Given the description of an element on the screen output the (x, y) to click on. 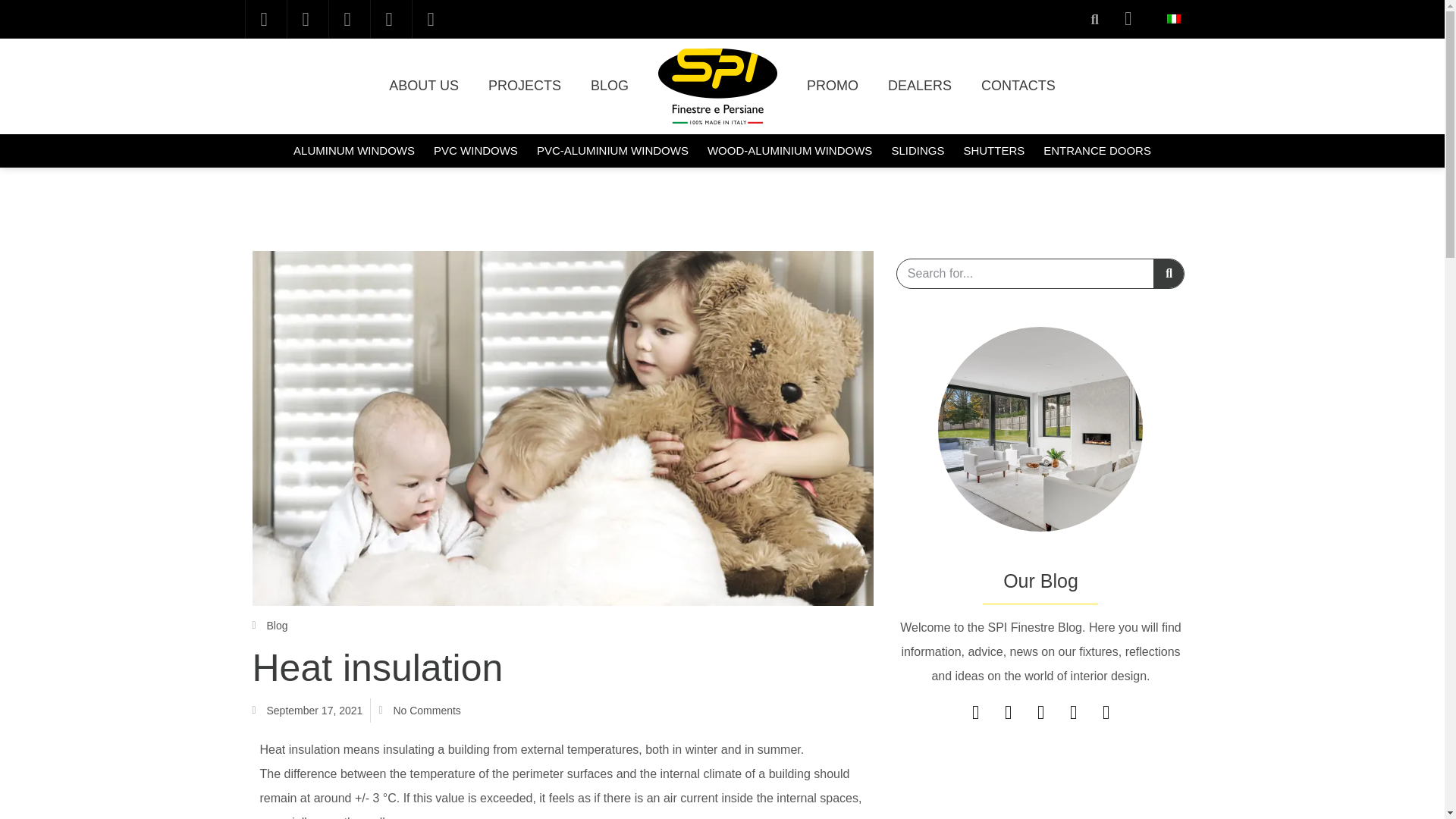
ABOUT US (424, 85)
PVC WINDOWS (475, 150)
DEALERS (919, 85)
BLOG (608, 85)
CONTACTS (1017, 85)
PROMO (832, 85)
ALUMINUM WINDOWS (354, 150)
PROJECTS (524, 85)
